Given the description of an element on the screen output the (x, y) to click on. 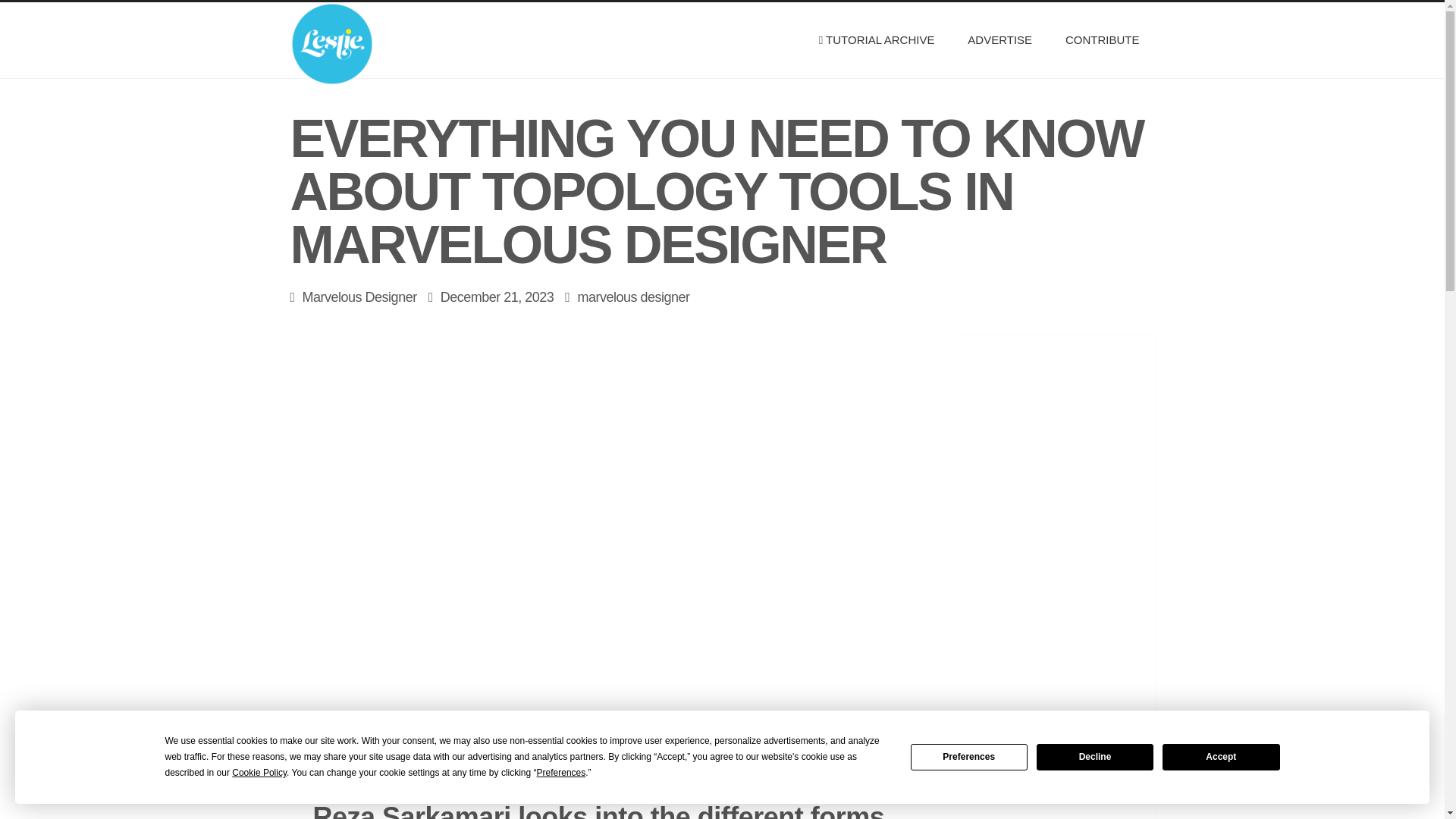
Decline (1094, 756)
Lesterbanks (351, 39)
Tutorial Archives (876, 39)
TUTORIAL ARCHIVE (876, 39)
View all posts in Marvelous Designer (359, 296)
Accept (1220, 756)
View all posts tagged with marvelous designer (632, 296)
Preferences (969, 756)
